Given the description of an element on the screen output the (x, y) to click on. 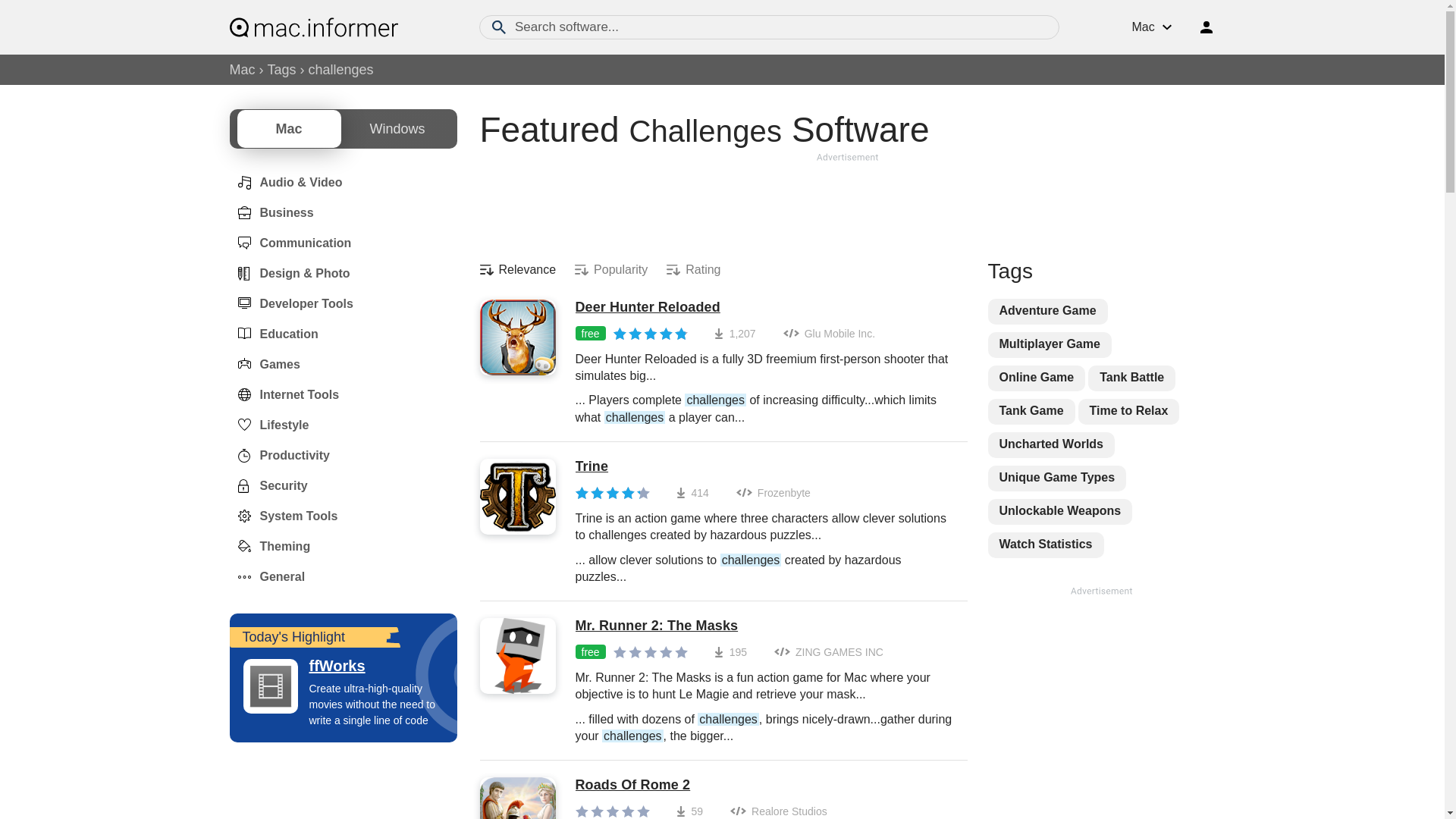
Popularity (611, 269)
Theming (269, 546)
Education (272, 334)
Developer Tools (290, 304)
Roads Of Rome 2 (763, 785)
Tags (282, 69)
Software downloads and reviews (312, 26)
Trine (763, 466)
General (266, 576)
Relevance (517, 269)
Windows (396, 128)
Relevance (517, 269)
Deer Hunter Reloaded (763, 307)
Security (267, 486)
